Given the description of an element on the screen output the (x, y) to click on. 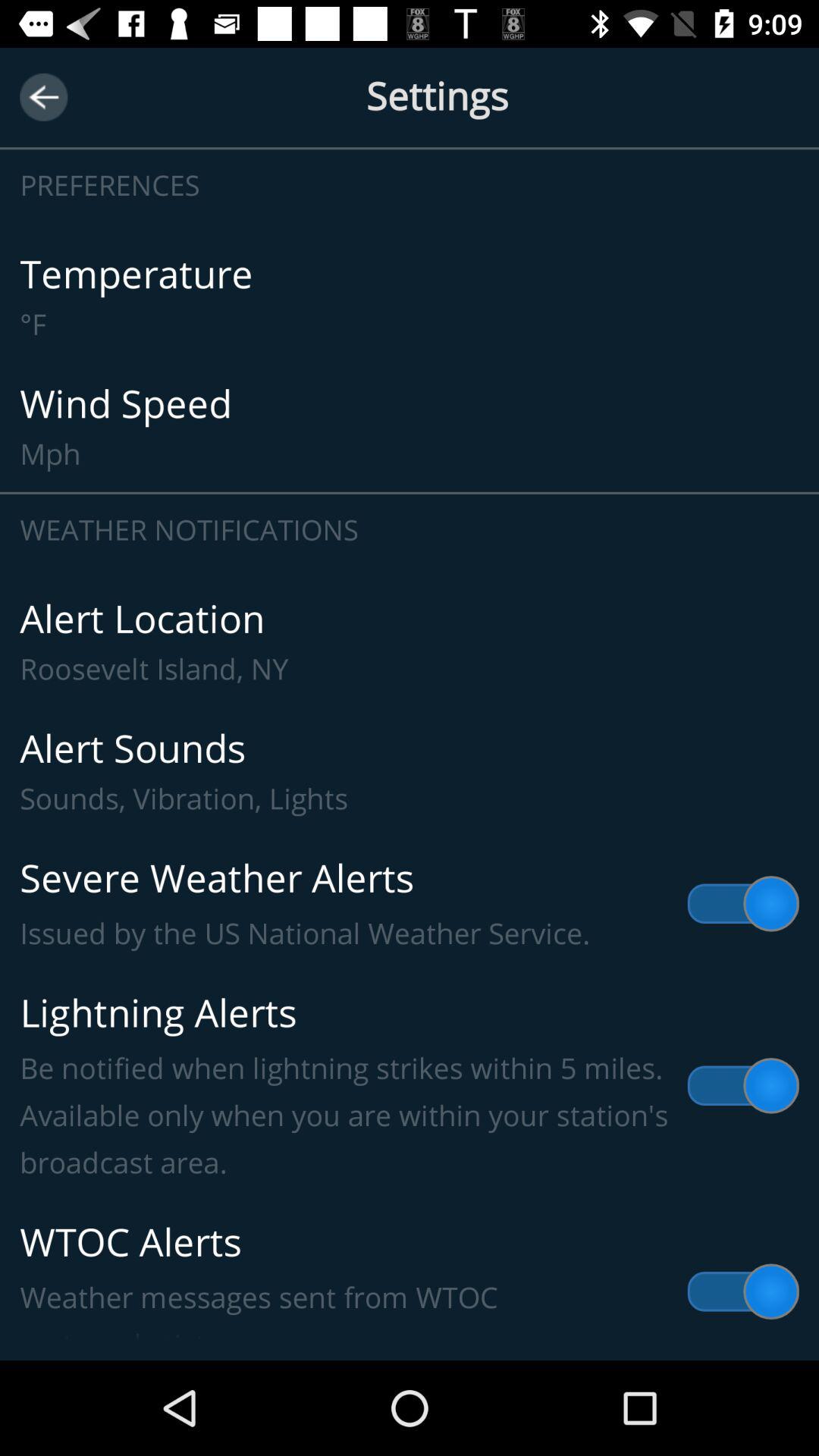
swipe to alert sounds sounds item (409, 771)
